Given the description of an element on the screen output the (x, y) to click on. 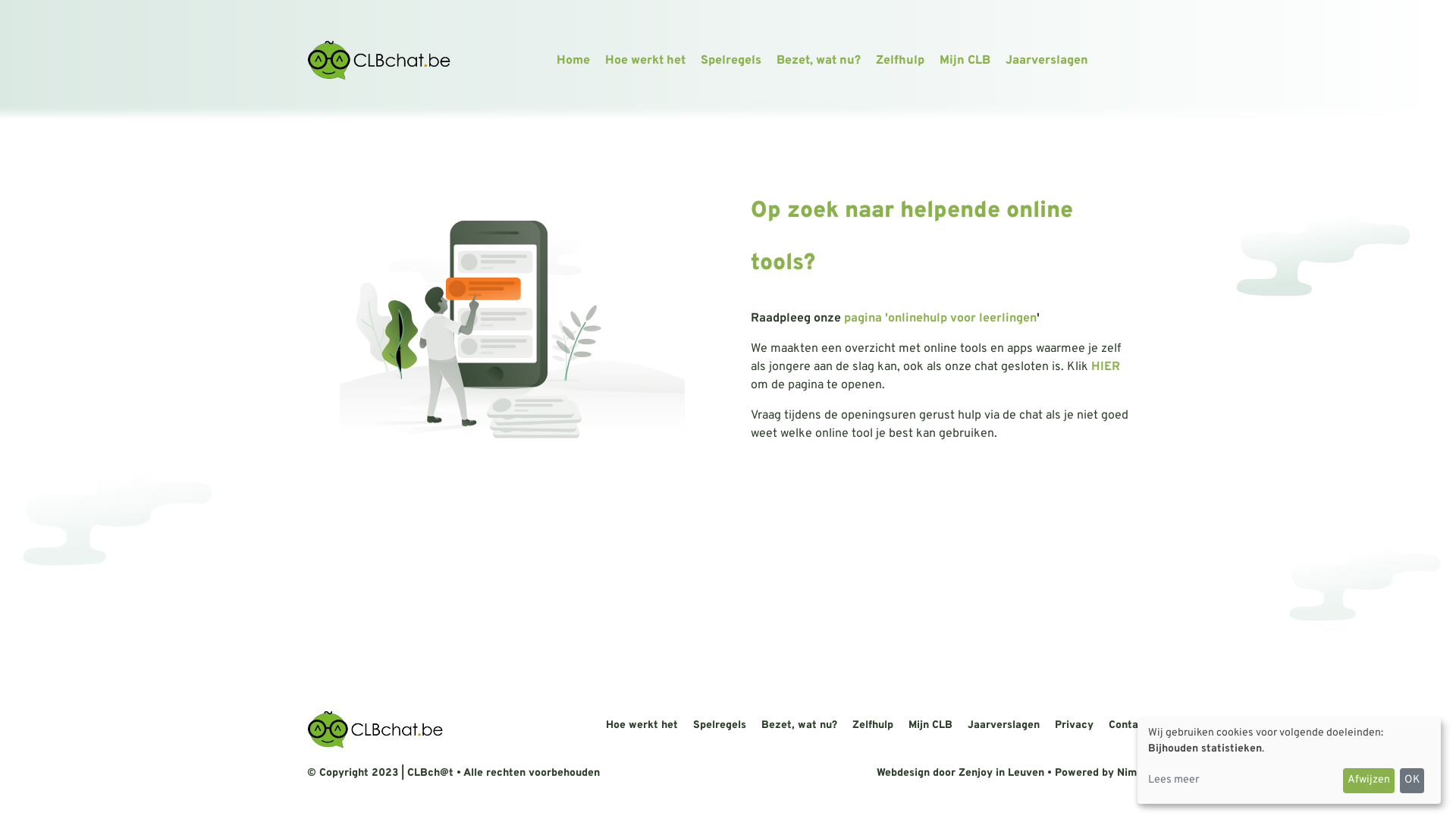
Spelregels Element type: text (719, 724)
Hoe werkt het Element type: text (641, 724)
Zelfhulp Element type: text (872, 724)
Contact Element type: text (1128, 724)
Zelfhulp Element type: text (899, 60)
pagina 'onlinehulp voor leerlingen Element type: text (940, 318)
Spelregels Element type: text (730, 60)
Mijn CLB Element type: text (930, 724)
OK Element type: text (1411, 779)
Jaarverslagen Element type: text (1003, 724)
HIER Element type: text (1105, 366)
Bezet, wat nu? Element type: text (818, 60)
Home Element type: text (572, 60)
Lees meer Element type: text (1242, 779)
Afwijzen Element type: text (1368, 779)
Mijn CLB Element type: text (964, 60)
Jaarverslagen Element type: text (1046, 60)
Bezet, wat nu? Element type: text (799, 724)
Privacy Element type: text (1073, 724)
Hoe werkt het Element type: text (645, 60)
Powered by Nimbu Element type: text (1101, 772)
Webdesign door Zenjoy in Leuven Element type: text (960, 772)
